Given the description of an element on the screen output the (x, y) to click on. 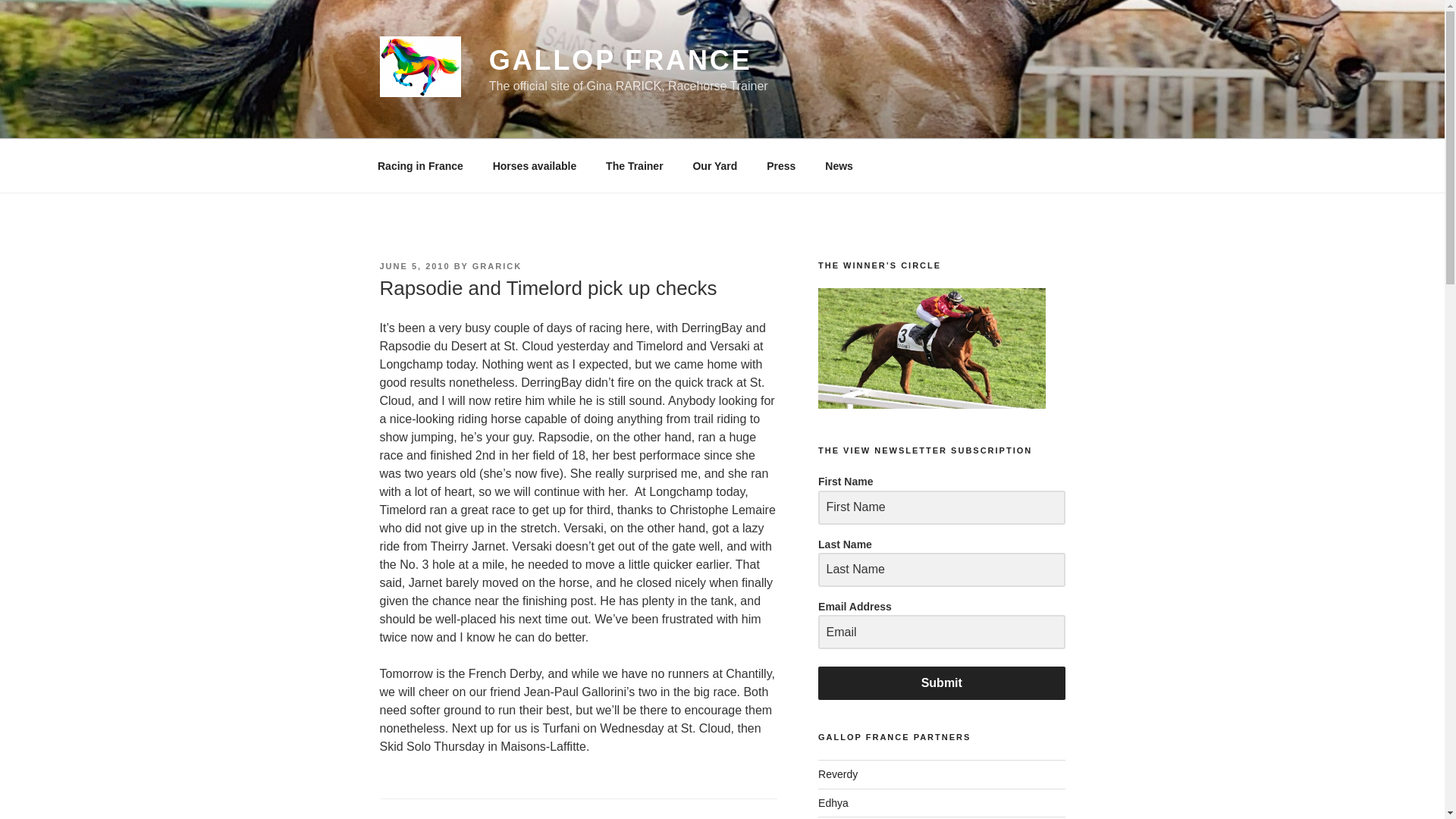
Edhya Equine Nutrition (833, 802)
Racing in France (420, 165)
Home (420, 165)
Press (781, 165)
Edhya (833, 802)
Horses available (534, 165)
GRARICK (496, 266)
The Trainer (634, 165)
Our Yard (715, 165)
News (839, 165)
